Given the description of an element on the screen output the (x, y) to click on. 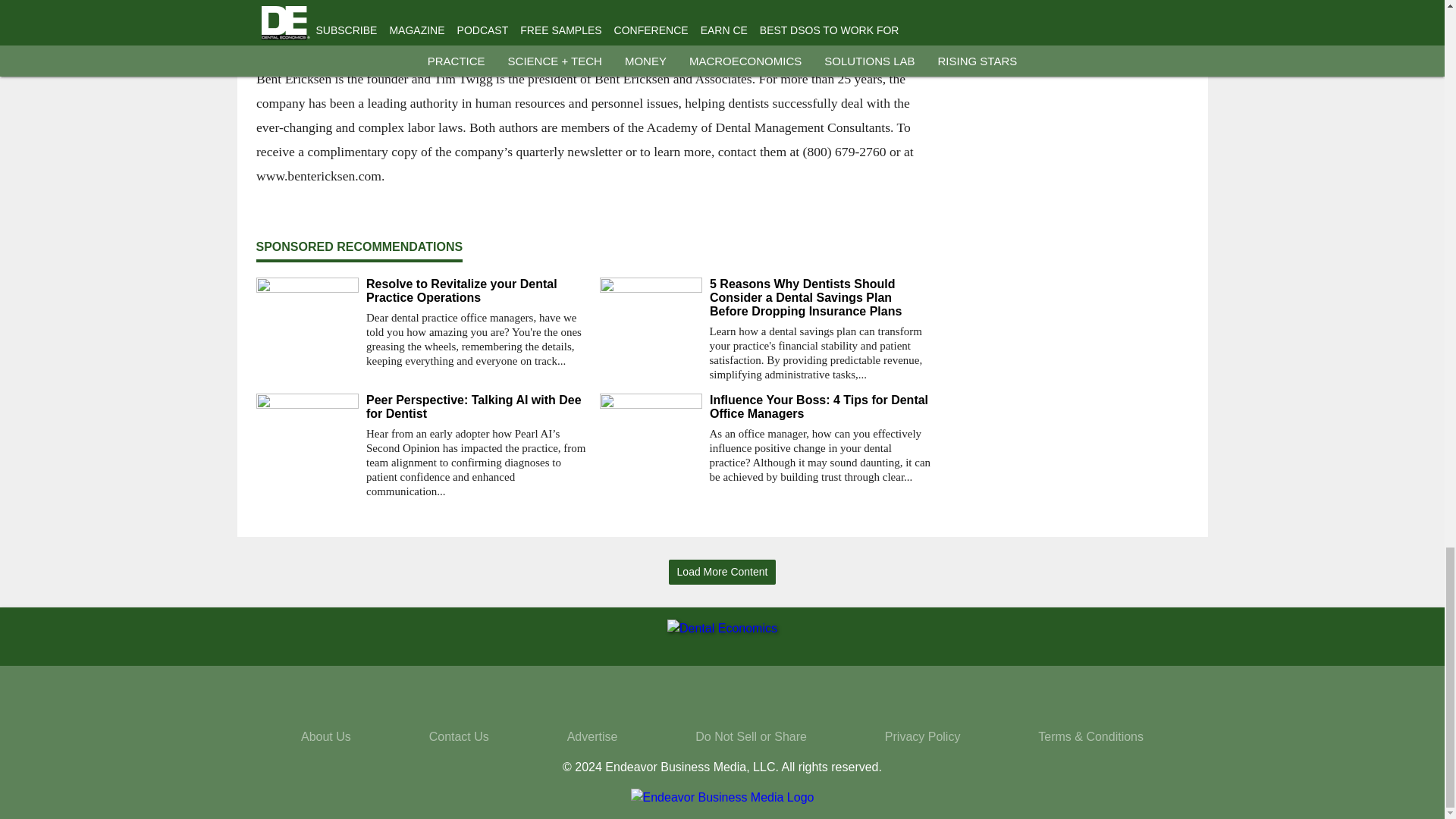
Resolve to Revitalize your Dental Practice Operations (476, 290)
Influence Your Boss: 4 Tips for Dental Office Managers (820, 406)
Peer Perspective: Talking AI with Dee for Dentist (476, 406)
